Given the description of an element on the screen output the (x, y) to click on. 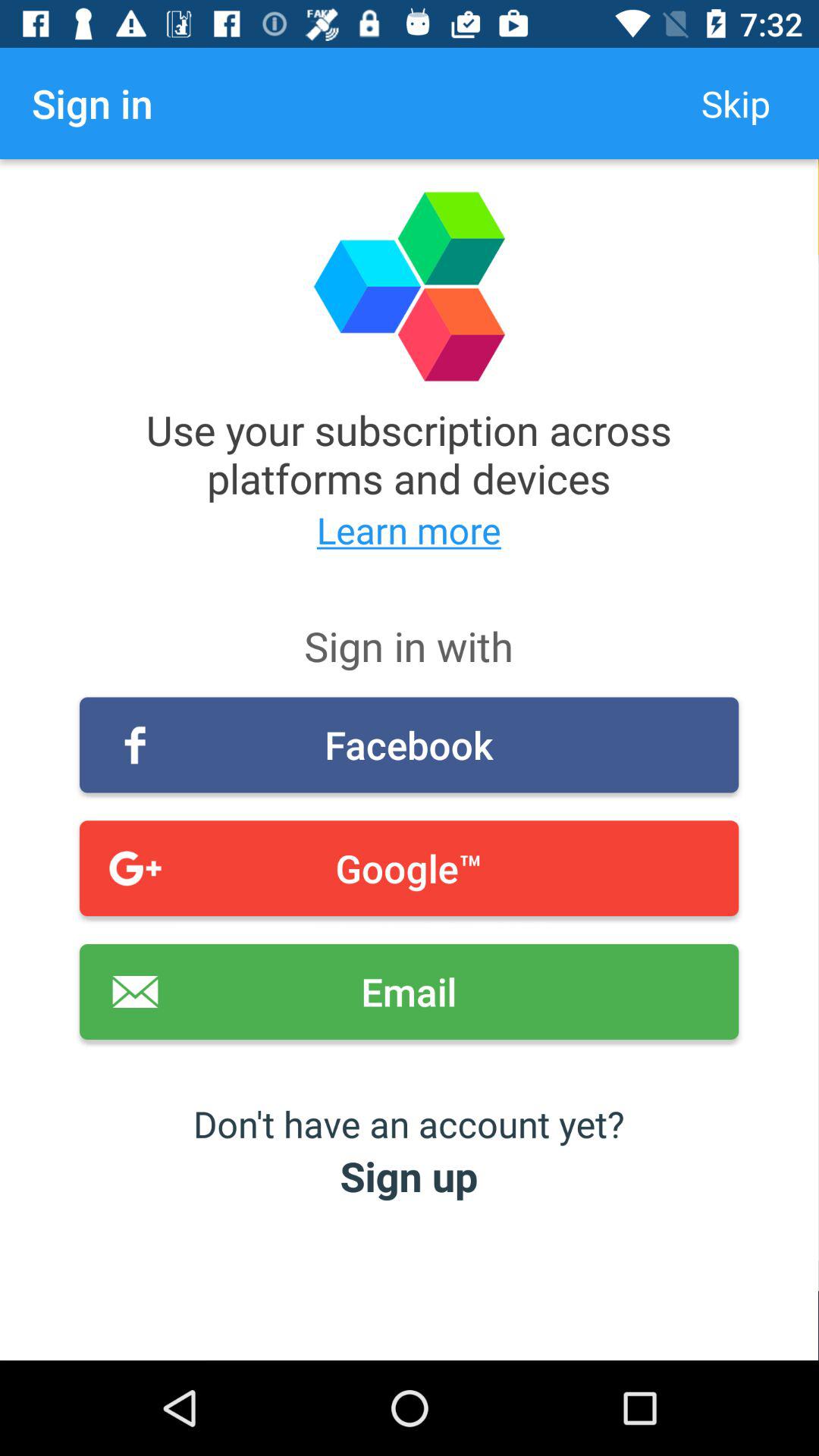
open the item below use your subscription (408, 529)
